Given the description of an element on the screen output the (x, y) to click on. 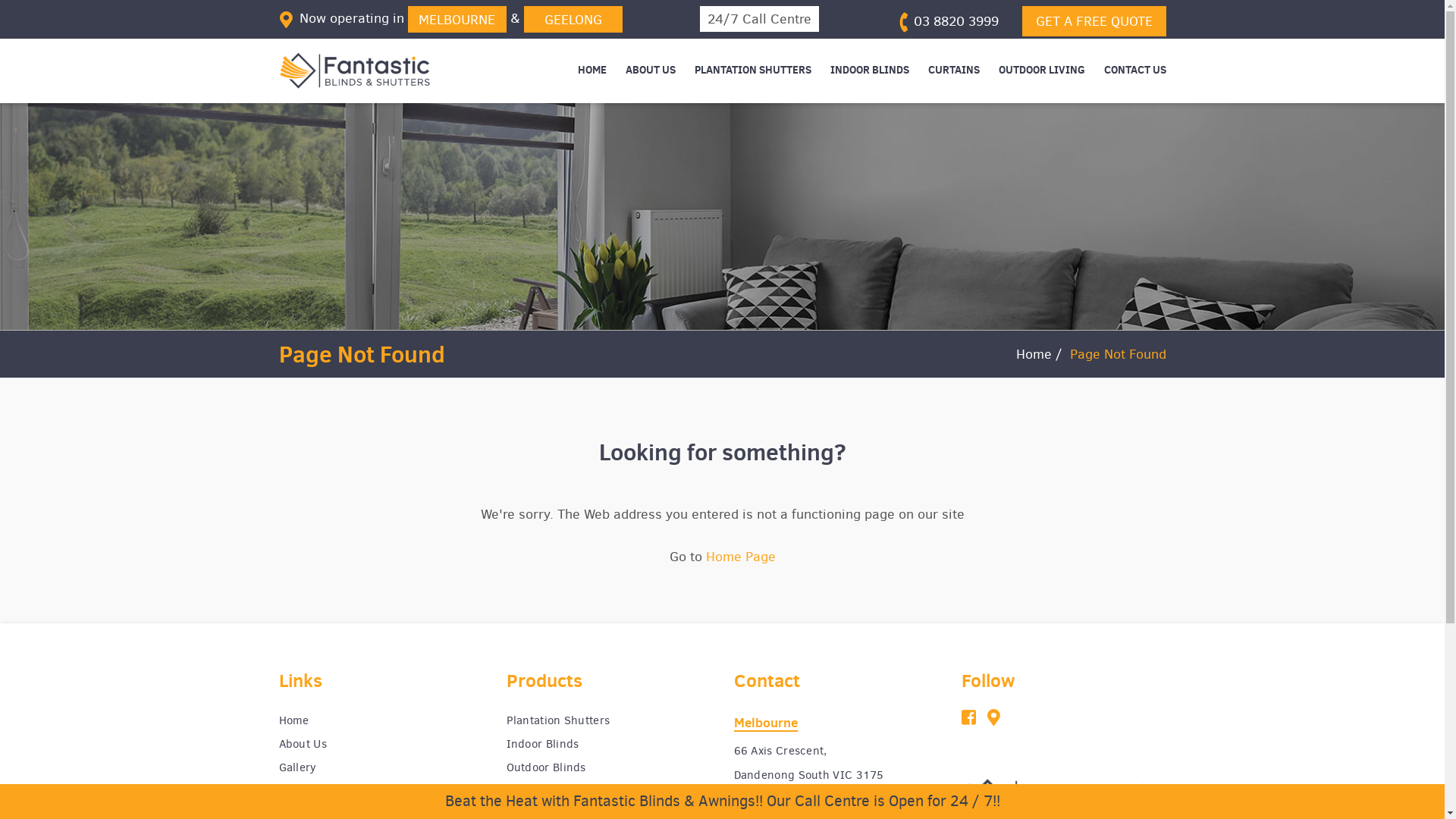
PLANTATION SHUTTERS Element type: text (752, 69)
HOME Element type: text (591, 69)
INDOOR BLINDS Element type: text (868, 69)
OUTDOOR LIVING Element type: text (1040, 69)
Home Element type: text (1033, 354)
Indoor Blinds Element type: text (608, 744)
Gallery Element type: text (381, 767)
About Us Element type: text (381, 744)
Fantastic Blinds & Shutters Element type: hover (354, 70)
Curtains Element type: text (608, 791)
Plantation Shutters Element type: text (608, 720)
Home Page Element type: text (740, 556)
GET A FREE QUOTE Element type: text (1094, 21)
ABOUT US Element type: text (649, 69)
Outdoor Blinds Element type: text (608, 767)
03 8820 3999 Element type: text (946, 21)
CURTAINS Element type: text (953, 69)
Contact Element type: text (381, 791)
CONTACT US Element type: text (1135, 69)
MELBOURNE Element type: text (456, 19)
Home Element type: text (381, 720)
GEELONG Element type: text (572, 19)
